Given the description of an element on the screen output the (x, y) to click on. 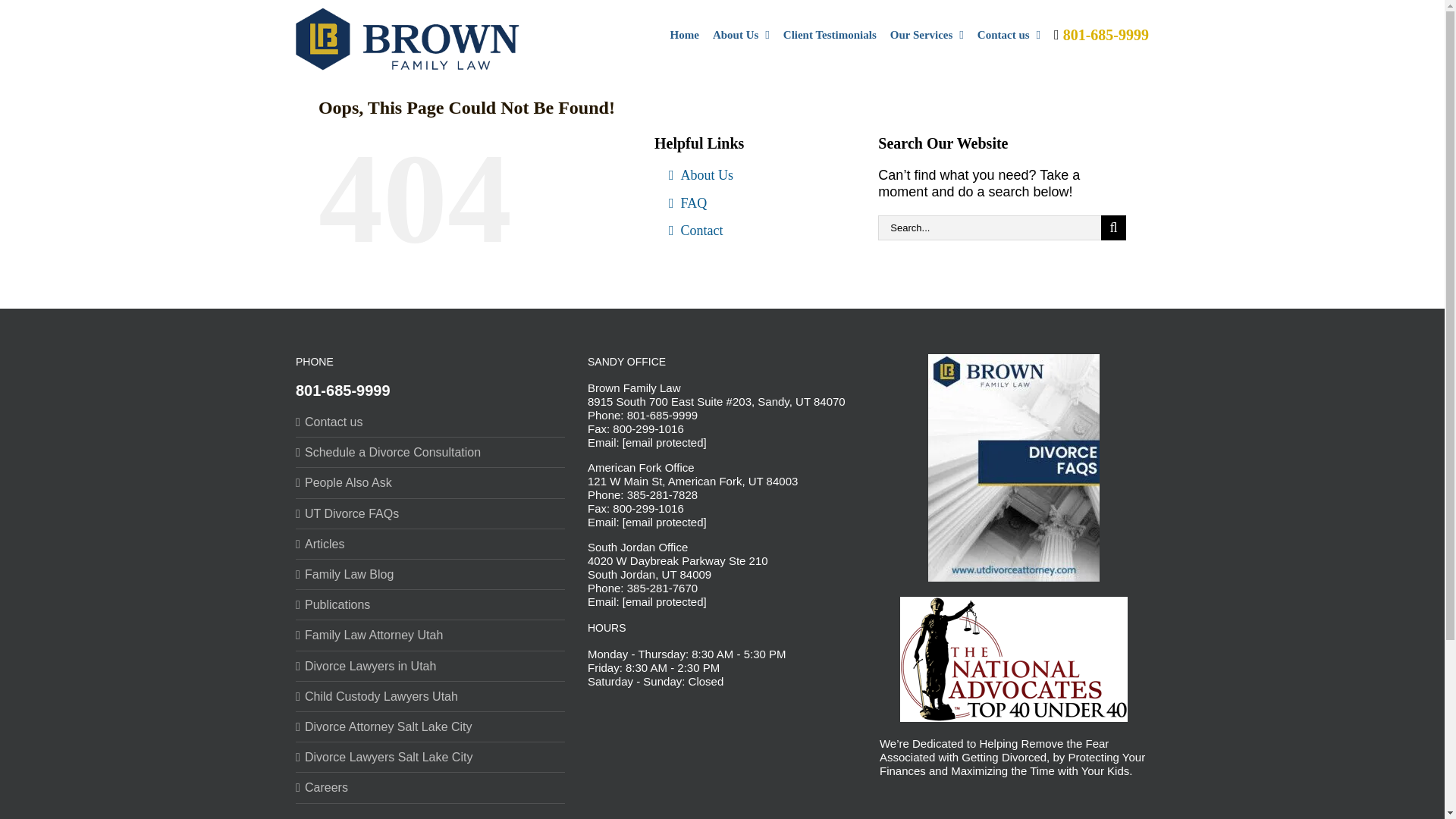
Divorce Attorney Salt Lake City (430, 716)
FAQ (753, 198)
UT Divorce FAQs (430, 503)
Our Services (926, 33)
Client Testimonials (829, 33)
Child Custody Lawyers Utah (430, 685)
Family Law Attorney Utah (430, 625)
801-685-9999 (342, 380)
801-685-9999 (1101, 33)
Contact (753, 226)
Contact us (430, 411)
Divorce Lawyers Salt Lake City (430, 747)
People Also Ask (430, 472)
Contact us (1008, 33)
Articles (430, 534)
